Given the description of an element on the screen output the (x, y) to click on. 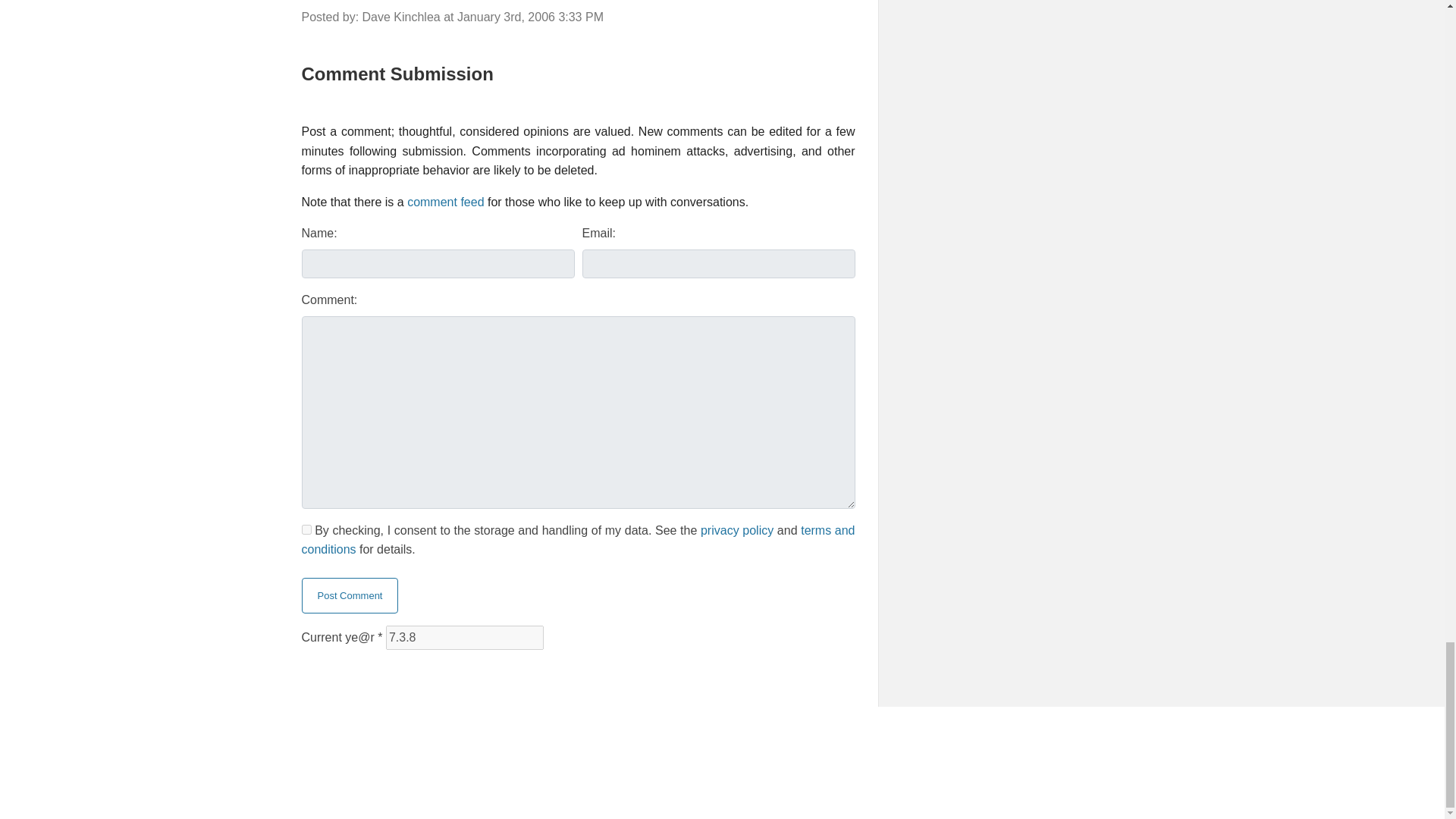
Post Comment (349, 596)
7.3.8 (464, 637)
1 (306, 529)
